Given the description of an element on the screen output the (x, y) to click on. 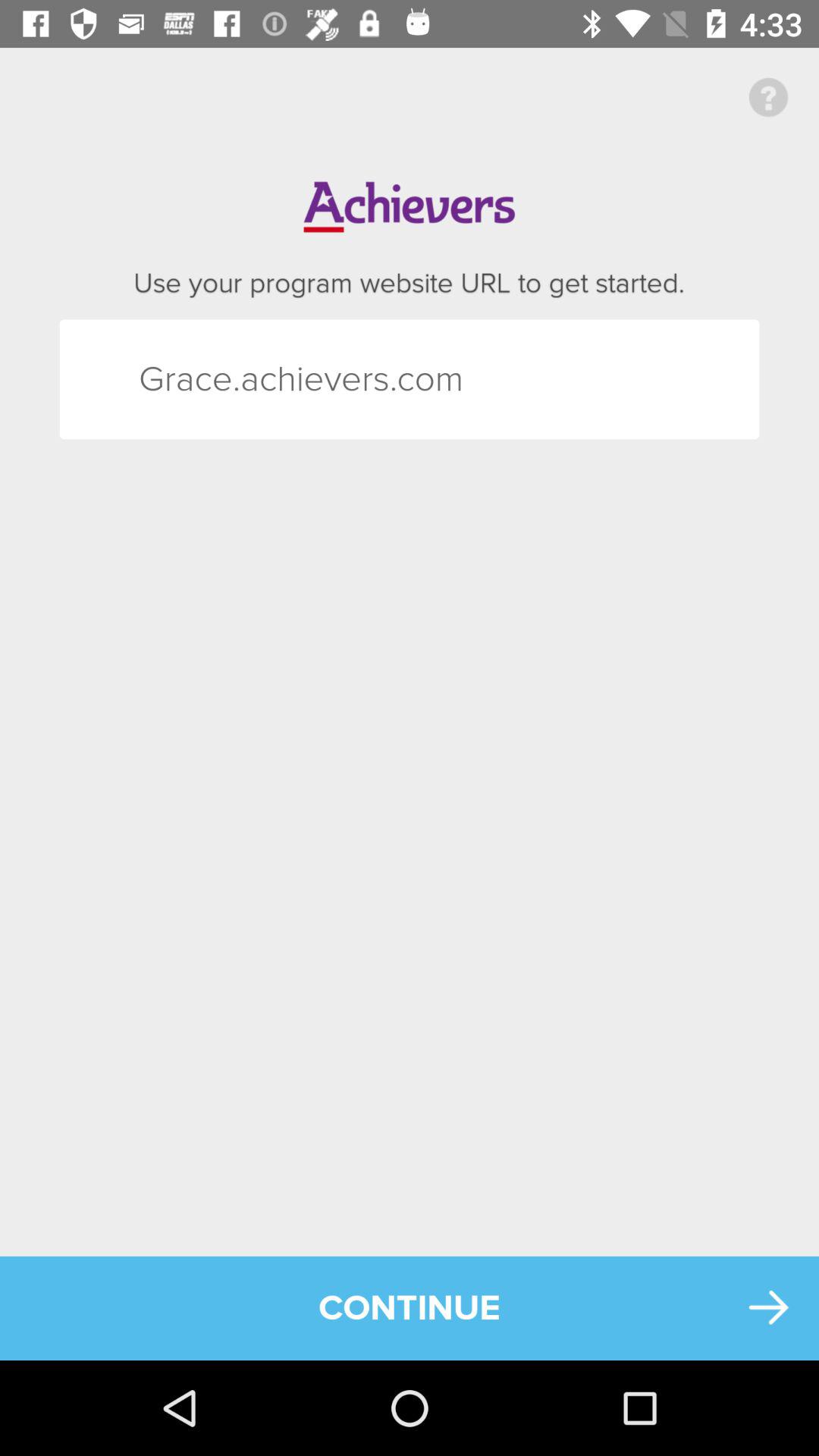
open icon to the left of .achievers.com (165, 379)
